Given the description of an element on the screen output the (x, y) to click on. 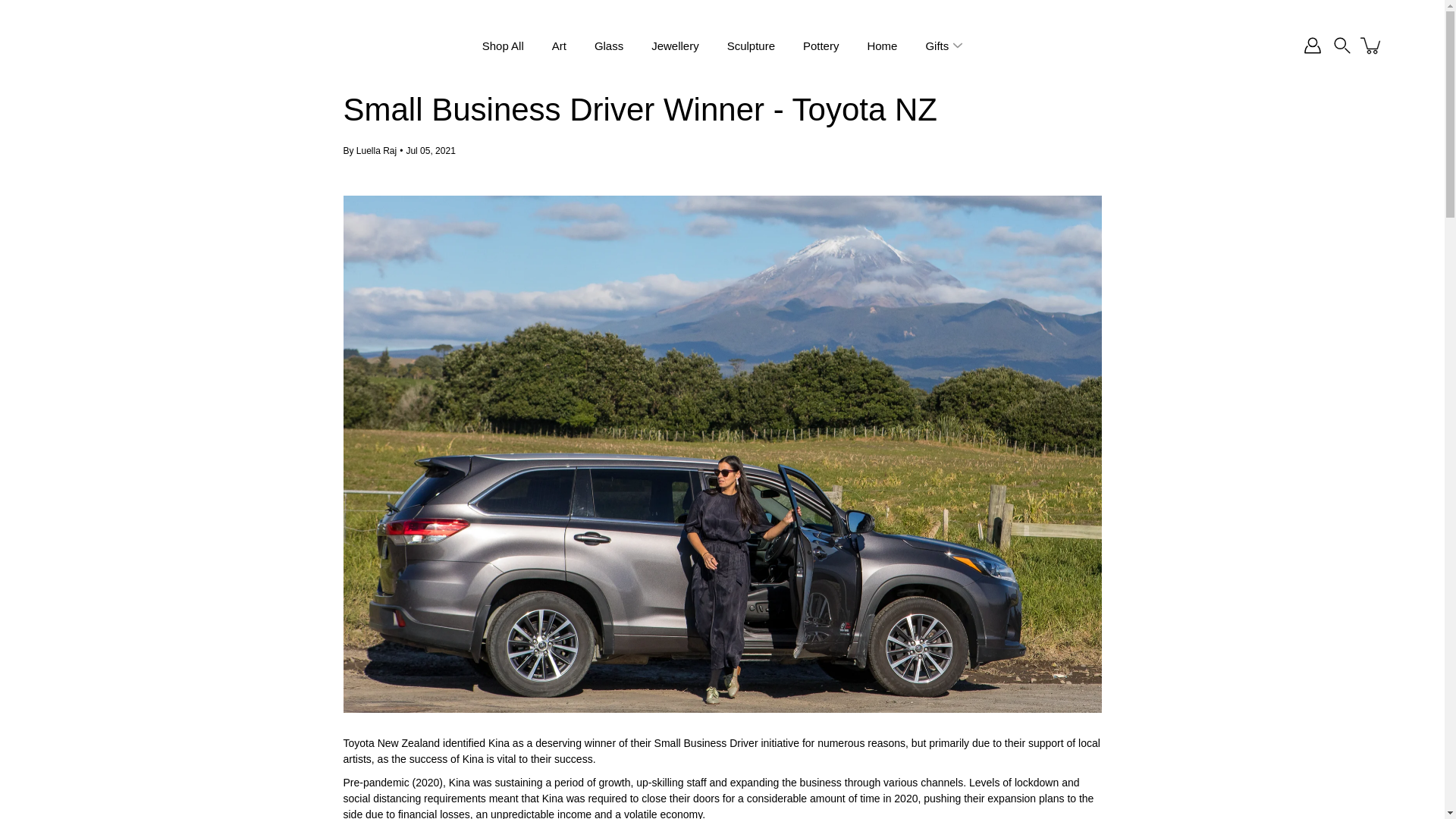
Sculpture (750, 45)
Jewellery (674, 45)
Glass (608, 45)
Home (881, 45)
Pottery (820, 45)
Shop All (502, 45)
Gifts (936, 45)
Search (1342, 45)
